Given the description of an element on the screen output the (x, y) to click on. 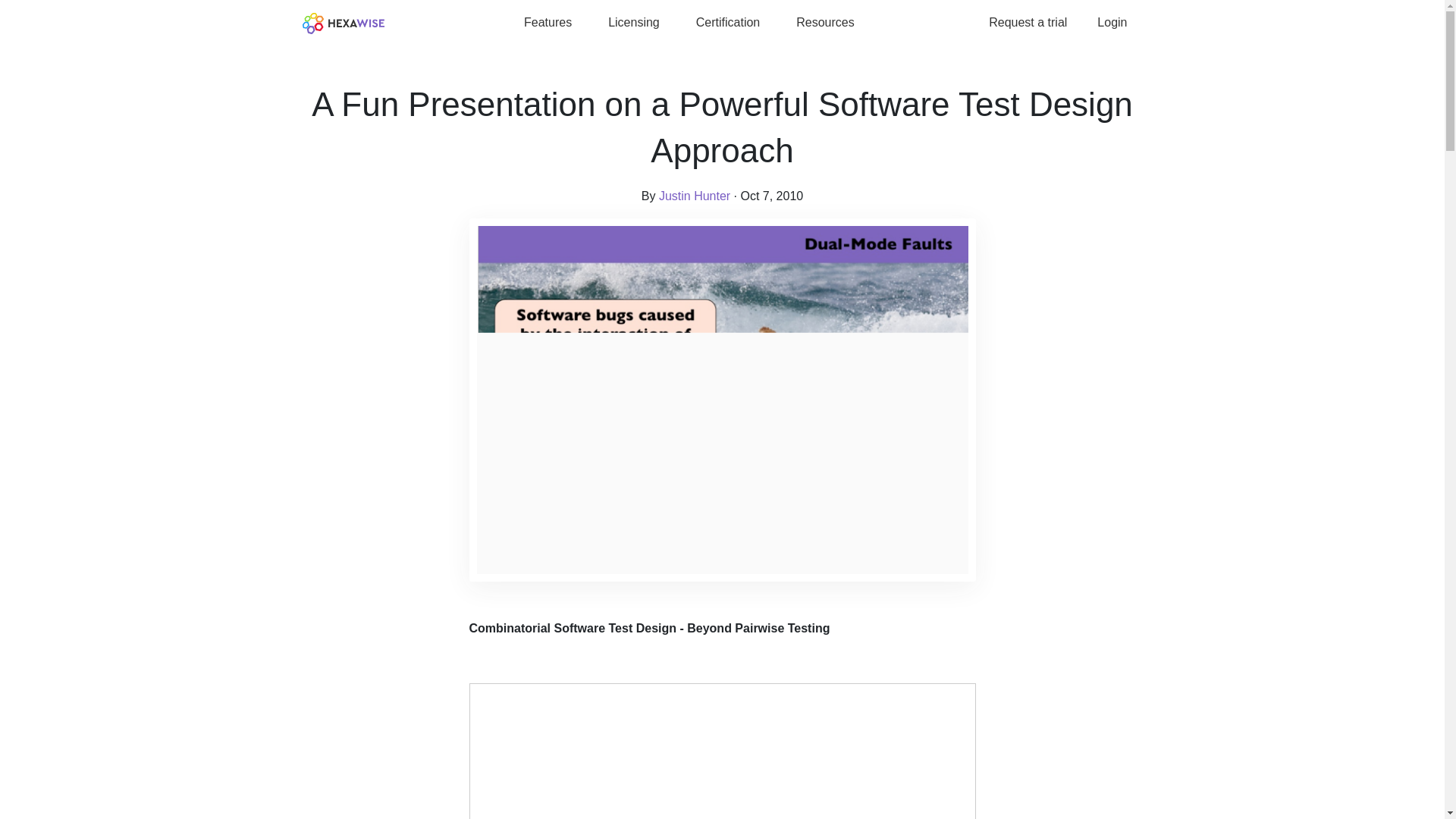
Certification (727, 21)
Resources (825, 21)
Features (548, 21)
Licensing (633, 21)
Justin Hunter (694, 195)
Request a trial (1027, 21)
Login (1111, 21)
